Given the description of an element on the screen output the (x, y) to click on. 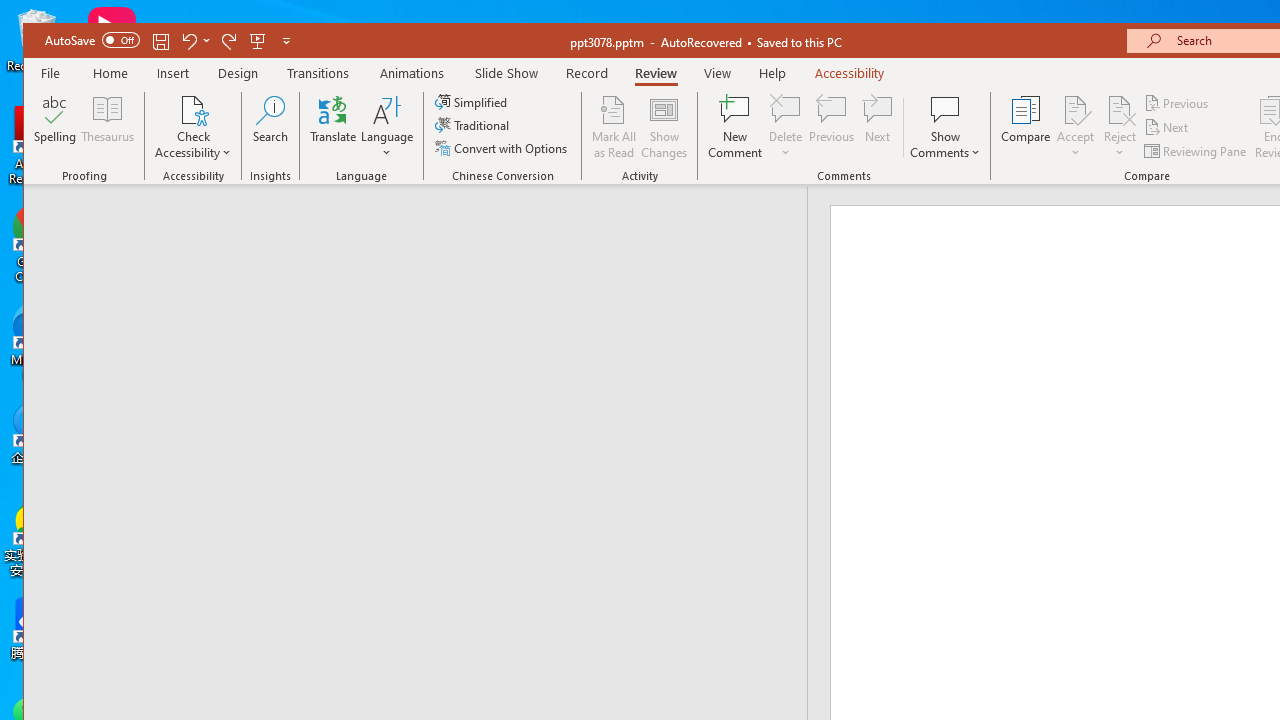
Previous (1177, 103)
Next (1167, 126)
Translate (333, 127)
Simplified (473, 101)
Accept (1075, 127)
Mark All as Read (614, 127)
